Given the description of an element on the screen output the (x, y) to click on. 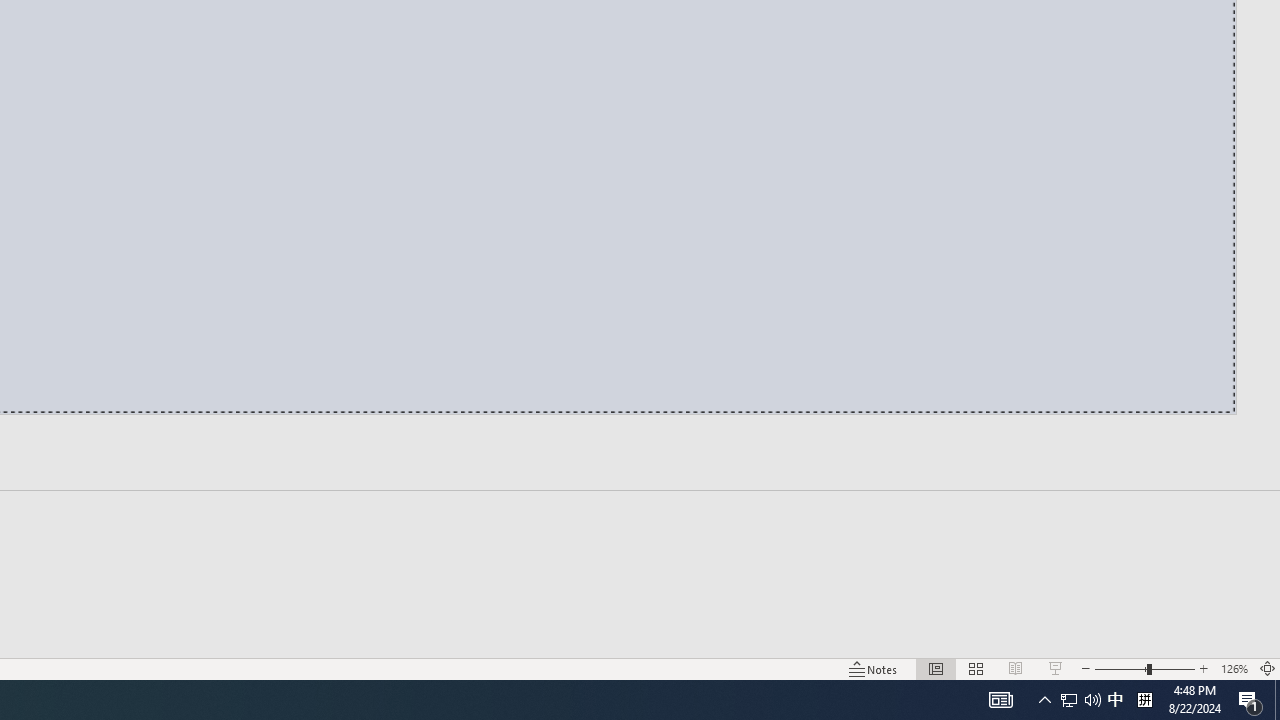
Zoom 126% (1234, 668)
